Given the description of an element on the screen output the (x, y) to click on. 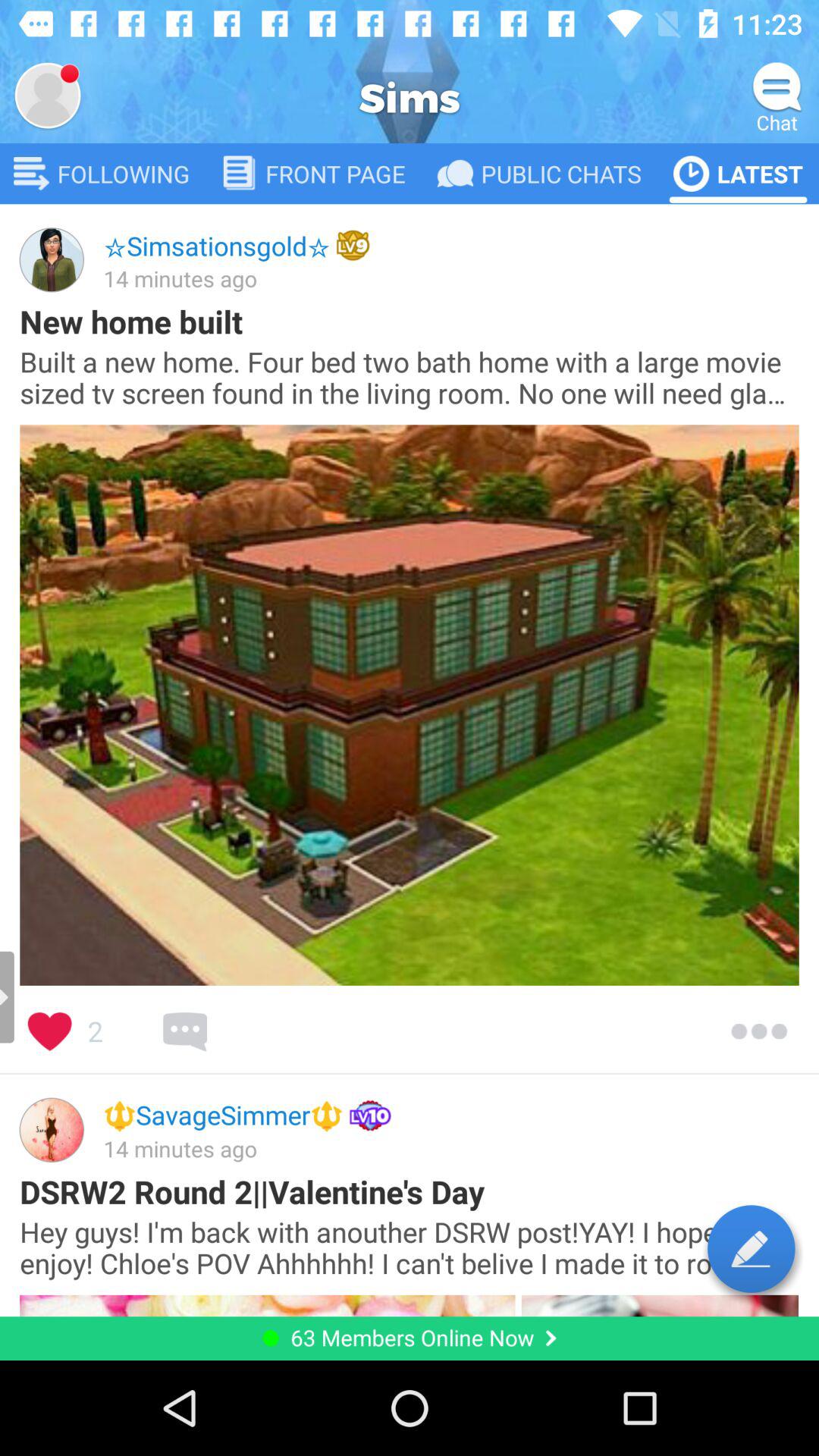
to write something (751, 1248)
